Given the description of an element on the screen output the (x, y) to click on. 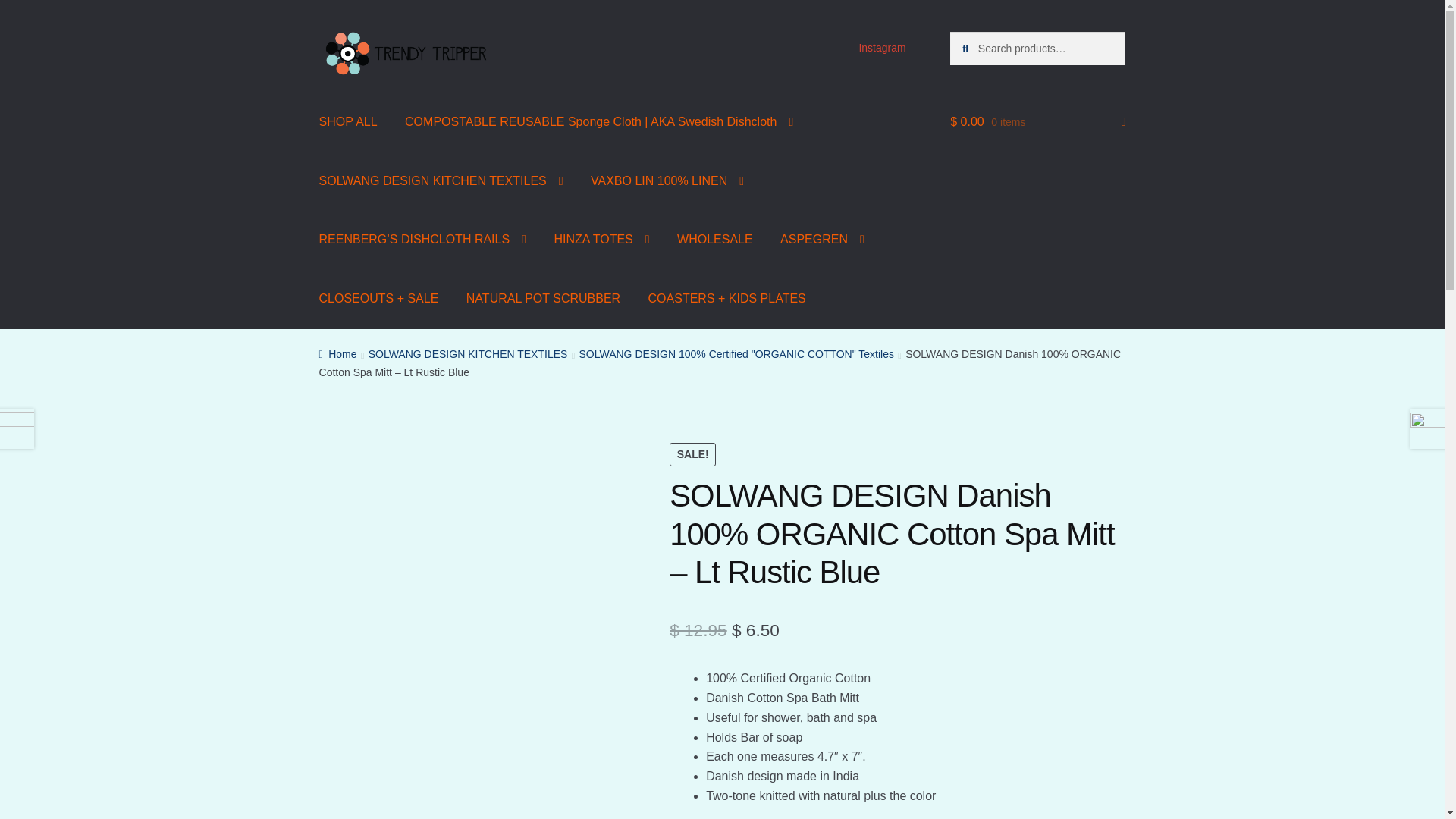
View your shopping cart (1037, 121)
WHOLESALE (715, 239)
ASPEGREN (822, 239)
Instagram (881, 47)
HINZA TOTES (601, 239)
SHOP ALL (348, 121)
SOLWANG DESIGN KITCHEN TEXTILES (441, 180)
